Given the description of an element on the screen output the (x, y) to click on. 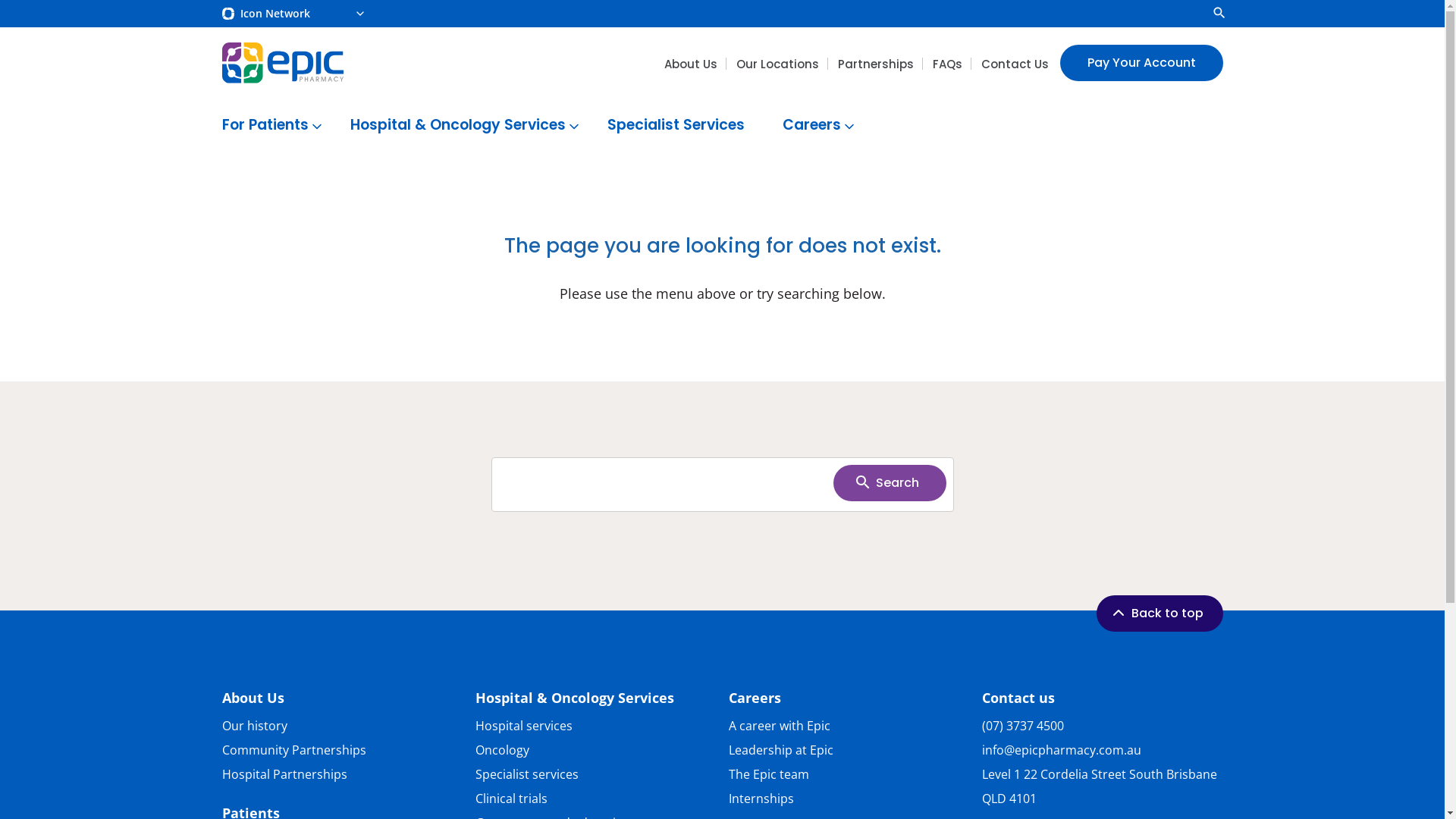
Our history Element type: text (341, 727)
Hospital & Oncology Services Element type: text (573, 698)
Community Partnerships Element type: text (341, 751)
FAQs Element type: text (947, 64)
Careers Element type: text (812, 126)
Back to top Element type: text (1159, 613)
The Epic team Element type: text (848, 775)
info@epicpharmacy.com.au Element type: text (1060, 750)
Careers Element type: text (754, 698)
Oncology Element type: text (594, 751)
Hospital Partnerships Element type: text (341, 775)
Search Element type: text (888, 482)
Internships Element type: text (848, 800)
Hospital & Oncology Services Element type: text (458, 126)
Our Locations Element type: text (776, 64)
Specialist services Element type: text (594, 775)
For Patients Element type: text (267, 126)
Clinical trials Element type: text (594, 800)
Hospital services Element type: text (594, 727)
Specialist Services Element type: text (675, 126)
Leadership at Epic Element type: text (848, 751)
(07) 3737 4500 Element type: text (1022, 725)
A career with Epic Element type: text (848, 727)
About Us Element type: text (690, 64)
Pay Your Account Element type: text (1141, 62)
About Us Element type: text (252, 698)
Contact Us Element type: text (1014, 64)
Contact us Element type: text (1017, 698)
Partnerships Element type: text (875, 64)
